Given the description of an element on the screen output the (x, y) to click on. 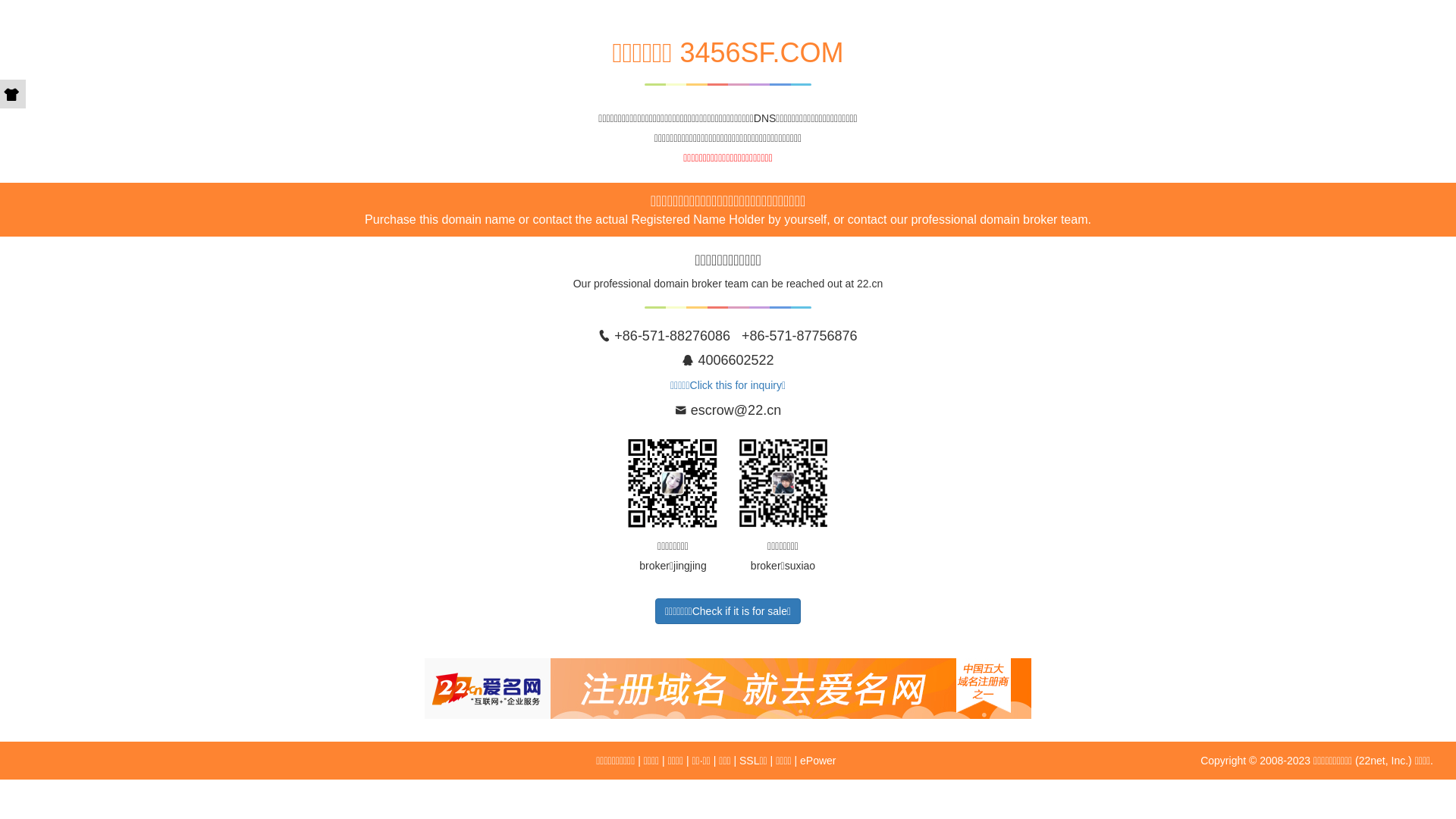
ePower Element type: text (817, 760)
